Given the description of an element on the screen output the (x, y) to click on. 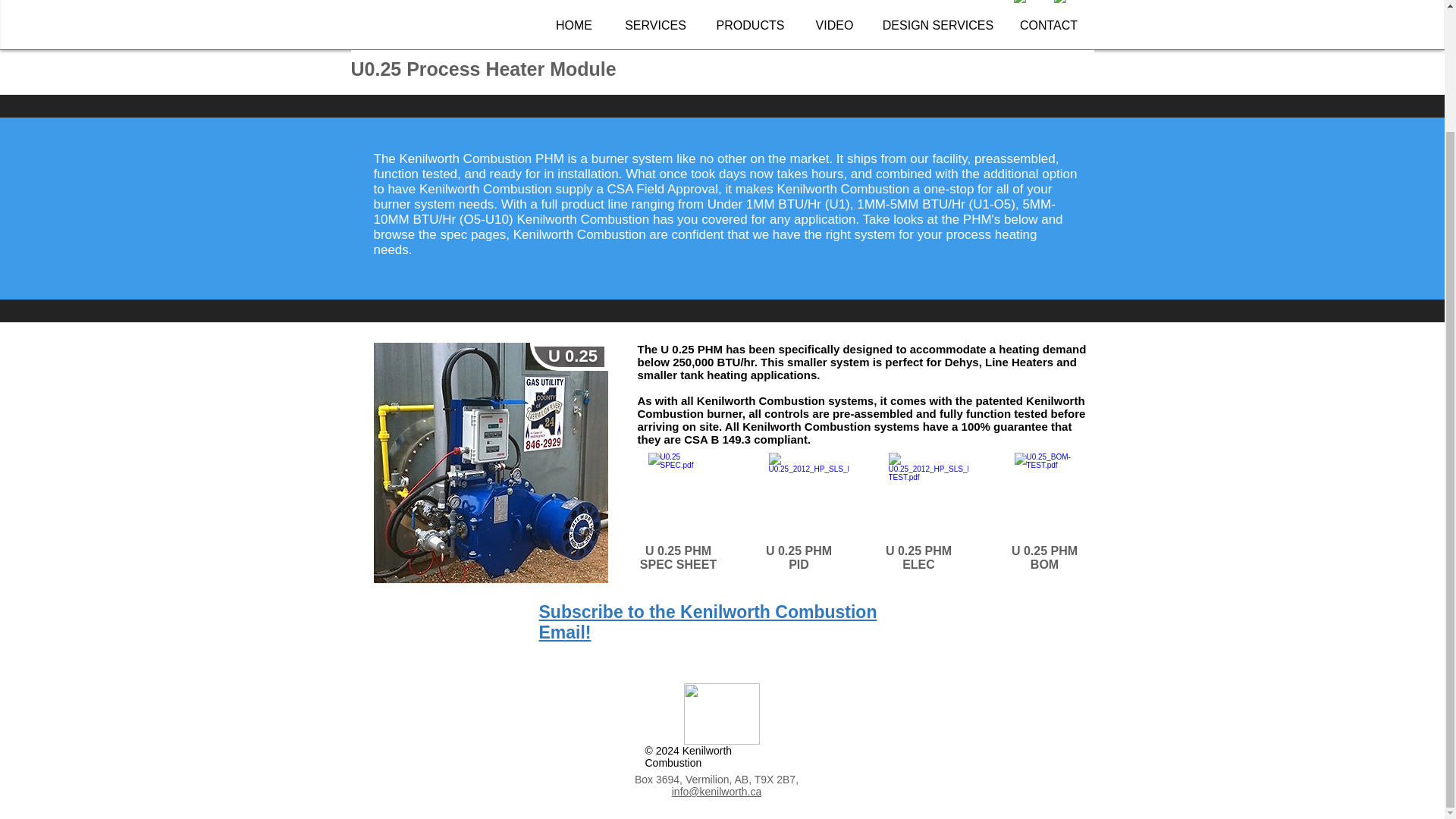
PRODUCTS (750, 25)
DESIGN SERVICES (938, 25)
HOME (573, 25)
Subscribe to the Kenilworth Combustion Email! (707, 621)
VIDEO (834, 25)
CONTACT (1048, 25)
SERVICES (655, 25)
